Given the description of an element on the screen output the (x, y) to click on. 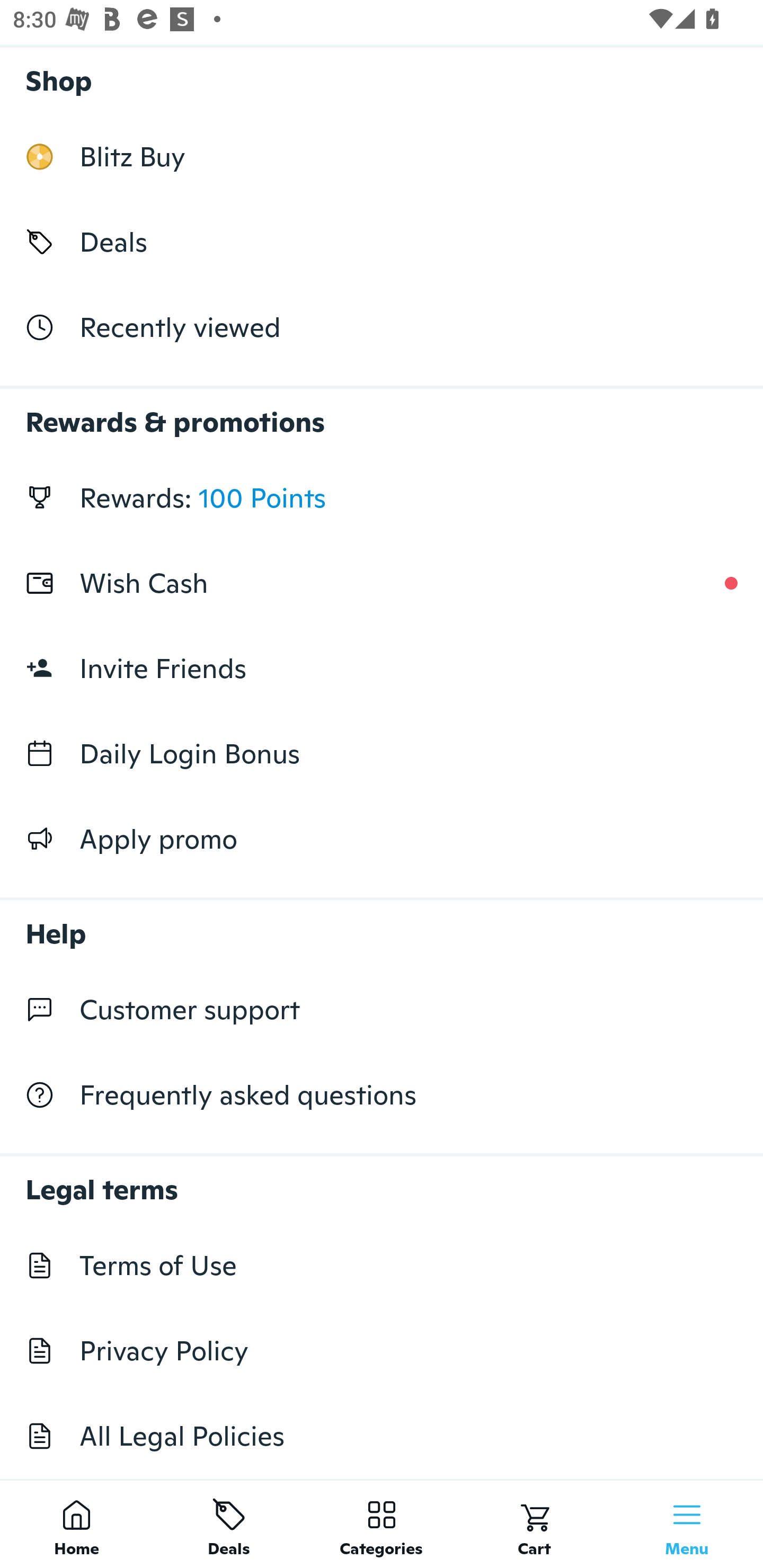
Shop (381, 75)
Blitz Buy (381, 156)
Deals (381, 242)
Recently viewed (381, 326)
Rewards & promotions (381, 413)
Rewards: 100 Points (381, 497)
Wish Cash (381, 582)
Invite Friends (381, 668)
Daily Login Bonus (381, 753)
Apply promo (381, 838)
Help (381, 924)
Customer support (381, 1009)
Frequently asked questions (381, 1095)
Legal terms (381, 1179)
Terms of Use (381, 1265)
Privacy Policy (381, 1350)
All Legal Policies (381, 1435)
Home (76, 1523)
Deals (228, 1523)
Categories (381, 1523)
Cart (533, 1523)
Menu (686, 1523)
